Given the description of an element on the screen output the (x, y) to click on. 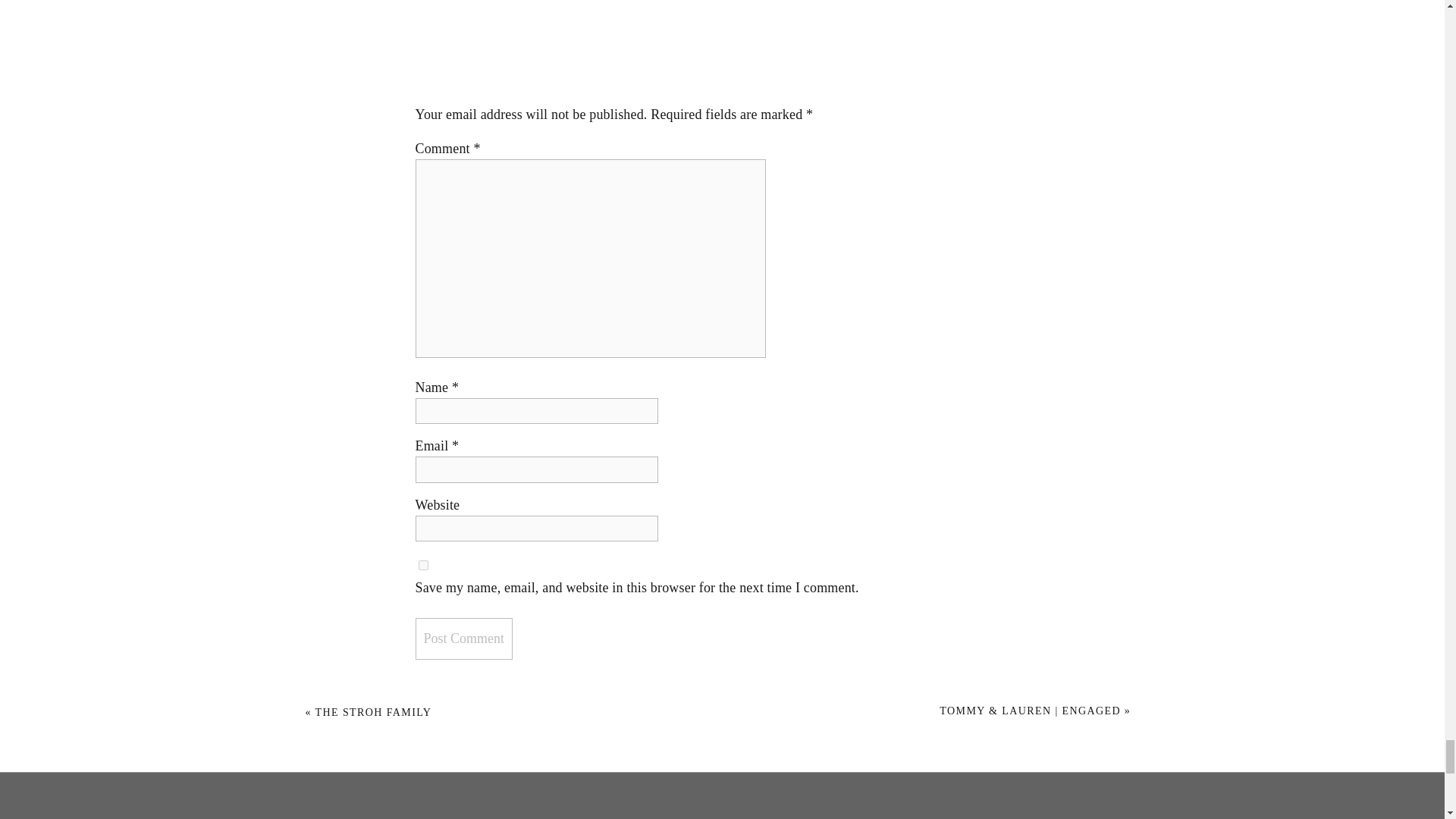
yes (423, 565)
BE THE FIRST TO COMMENT (723, 21)
Post Comment (463, 638)
Post Comment (463, 638)
THE STROH FAMILY (373, 712)
